Given the description of an element on the screen output the (x, y) to click on. 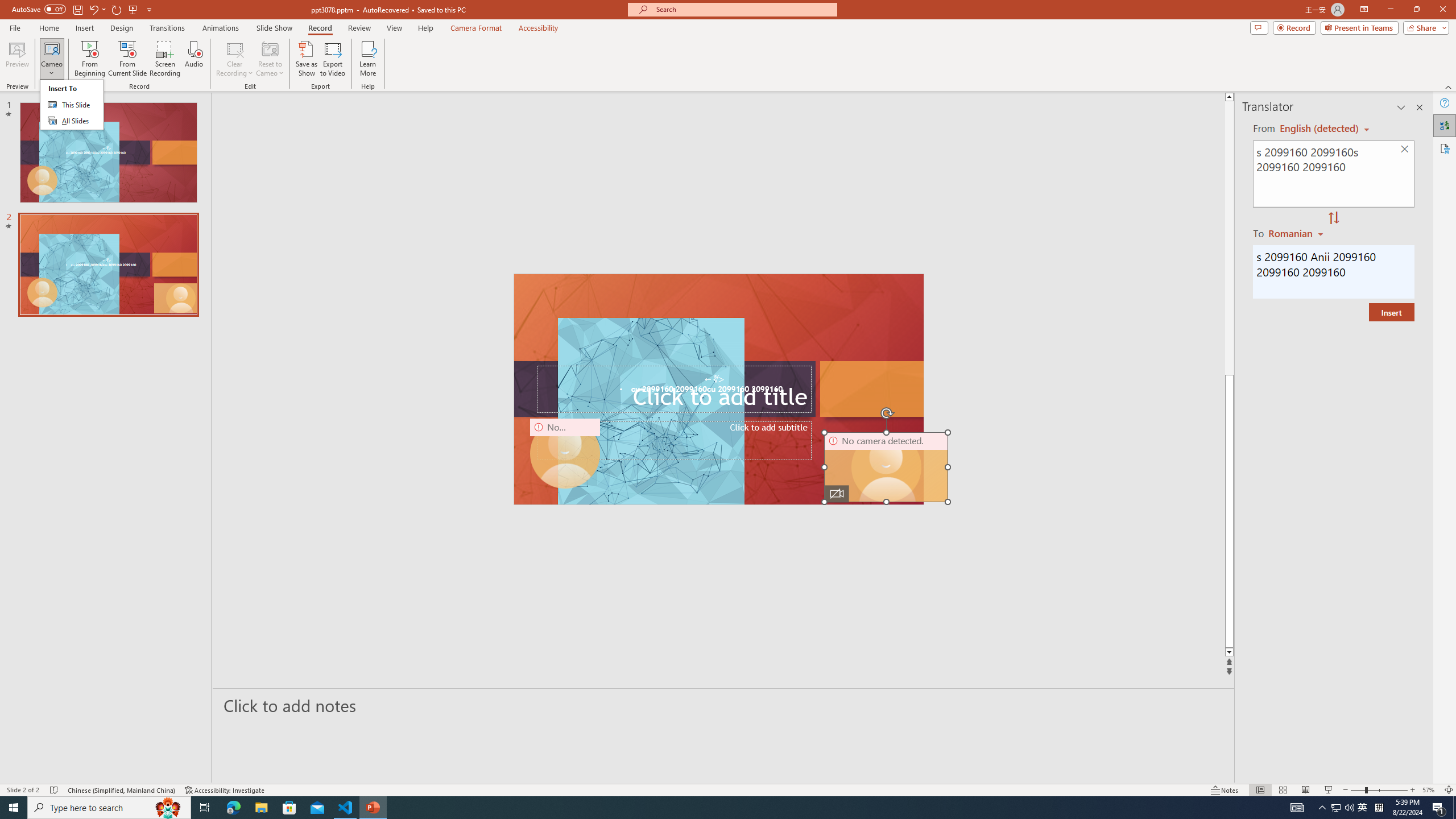
Romanian (1296, 232)
Camera 14, No camera detected. (886, 466)
&Cameo (71, 104)
TextBox 61 (717, 390)
Screen Recording (165, 58)
Slide Notes (724, 705)
Save as Show (306, 58)
